Given the description of an element on the screen output the (x, y) to click on. 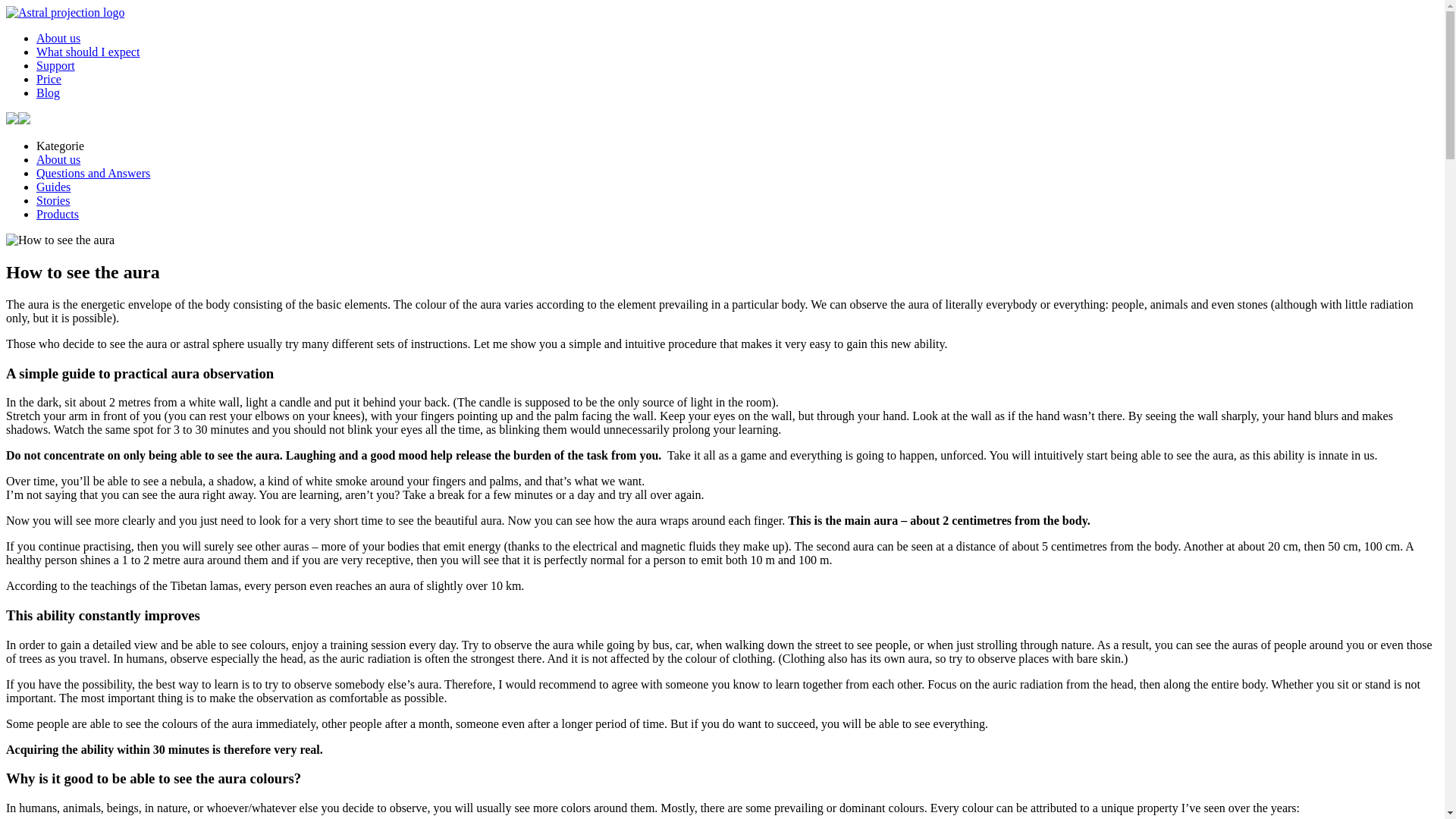
Price (48, 78)
Blog (47, 92)
Products (57, 214)
What should I expect (87, 51)
Questions and Answers (92, 173)
Stories (52, 200)
About us (58, 159)
About us (58, 38)
Support (55, 65)
Guides (52, 186)
